Given the description of an element on the screen output the (x, y) to click on. 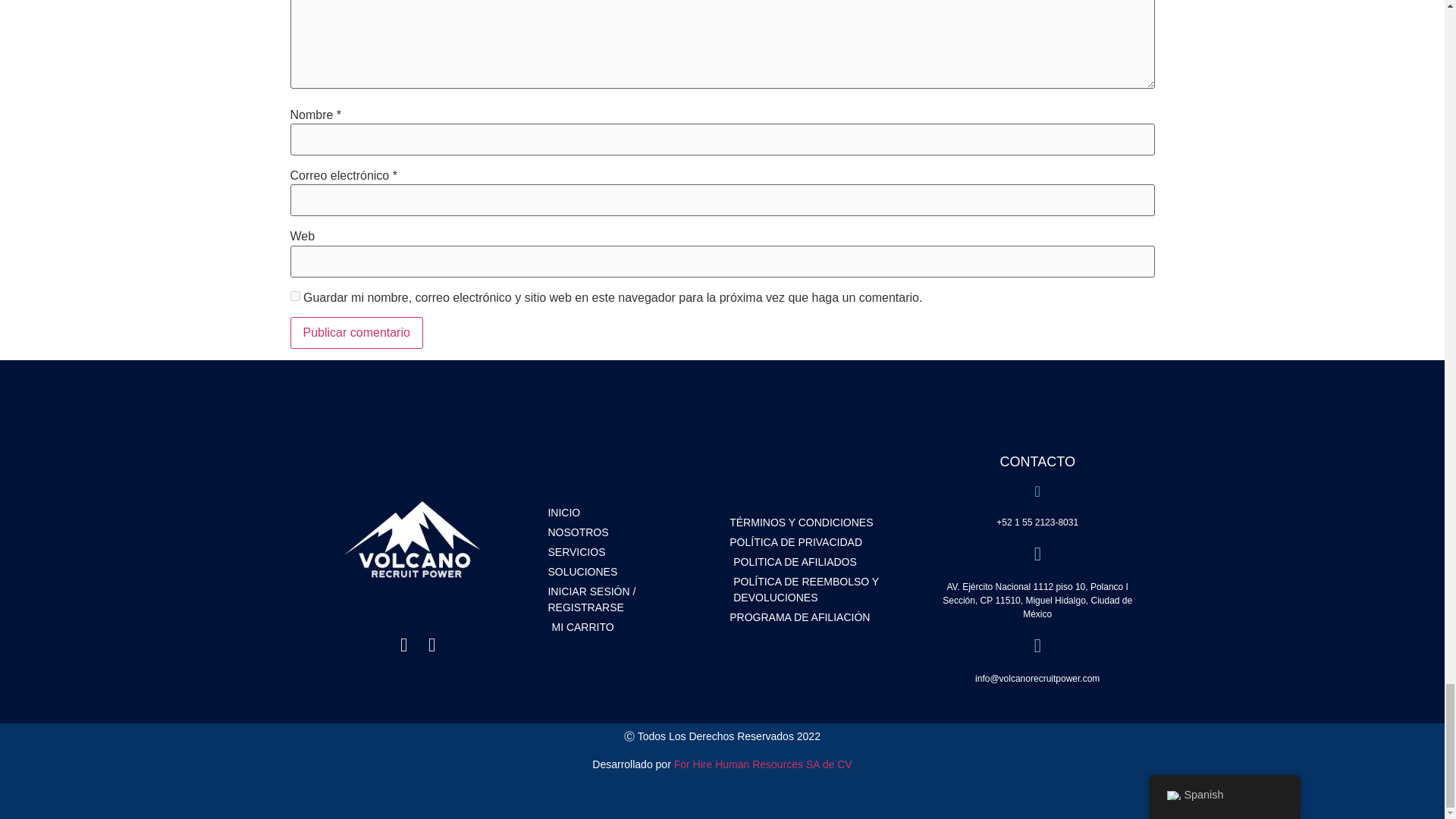
yes (294, 296)
INICIO (630, 512)
Publicar comentario (355, 332)
MI CARRITO (630, 627)
Publicar comentario (355, 332)
SOLUCIONES (630, 571)
SERVICIOS (630, 552)
POLITICA DE AFILIADOS (820, 562)
For Hire Human Resources SA de CV (762, 764)
NOSOTROS (630, 532)
